Given the description of an element on the screen output the (x, y) to click on. 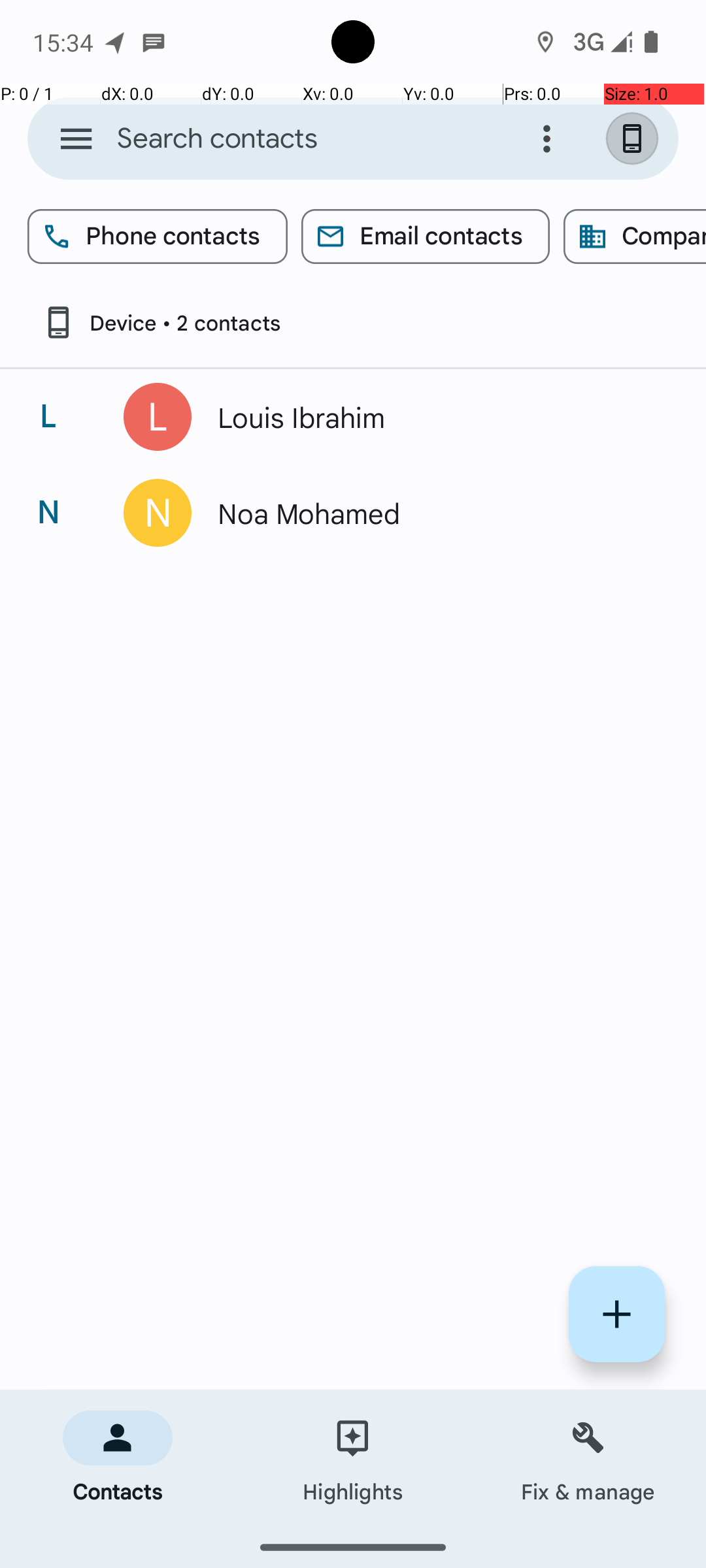
Device • 2 contacts Element type: android.widget.TextView (161, 322)
Louis Ibrahim Element type: android.widget.TextView (434, 416)
Noa Mohamed Element type: android.widget.TextView (434, 512)
SMS Messenger notification: Noa Mohamed Element type: android.widget.ImageView (153, 41)
